Given the description of an element on the screen output the (x, y) to click on. 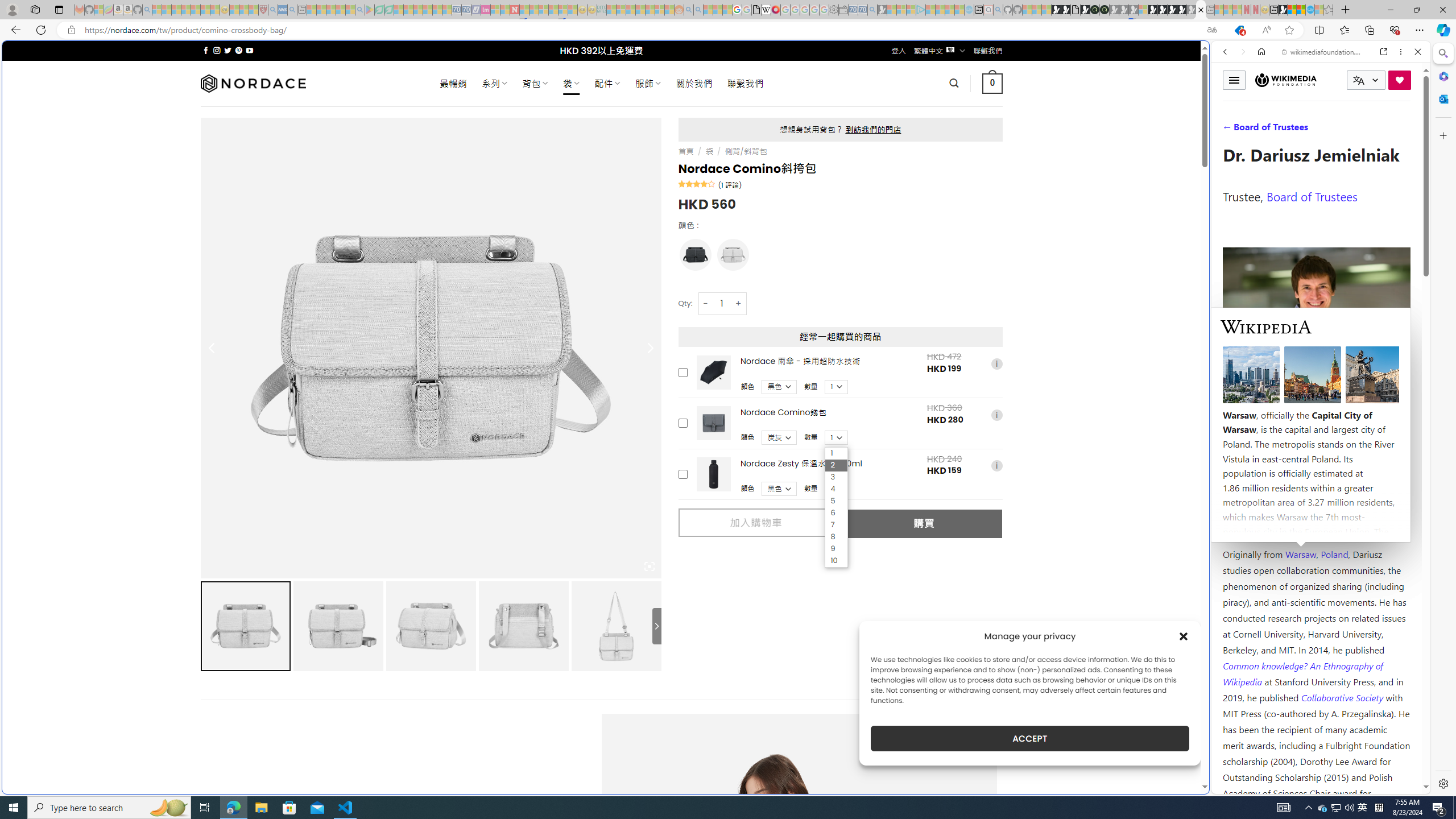
ACCEPT (1029, 738)
Earth has six continents not seven, radical new study claims (1300, 9)
Toggle menu (1233, 80)
